Given the description of an element on the screen output the (x, y) to click on. 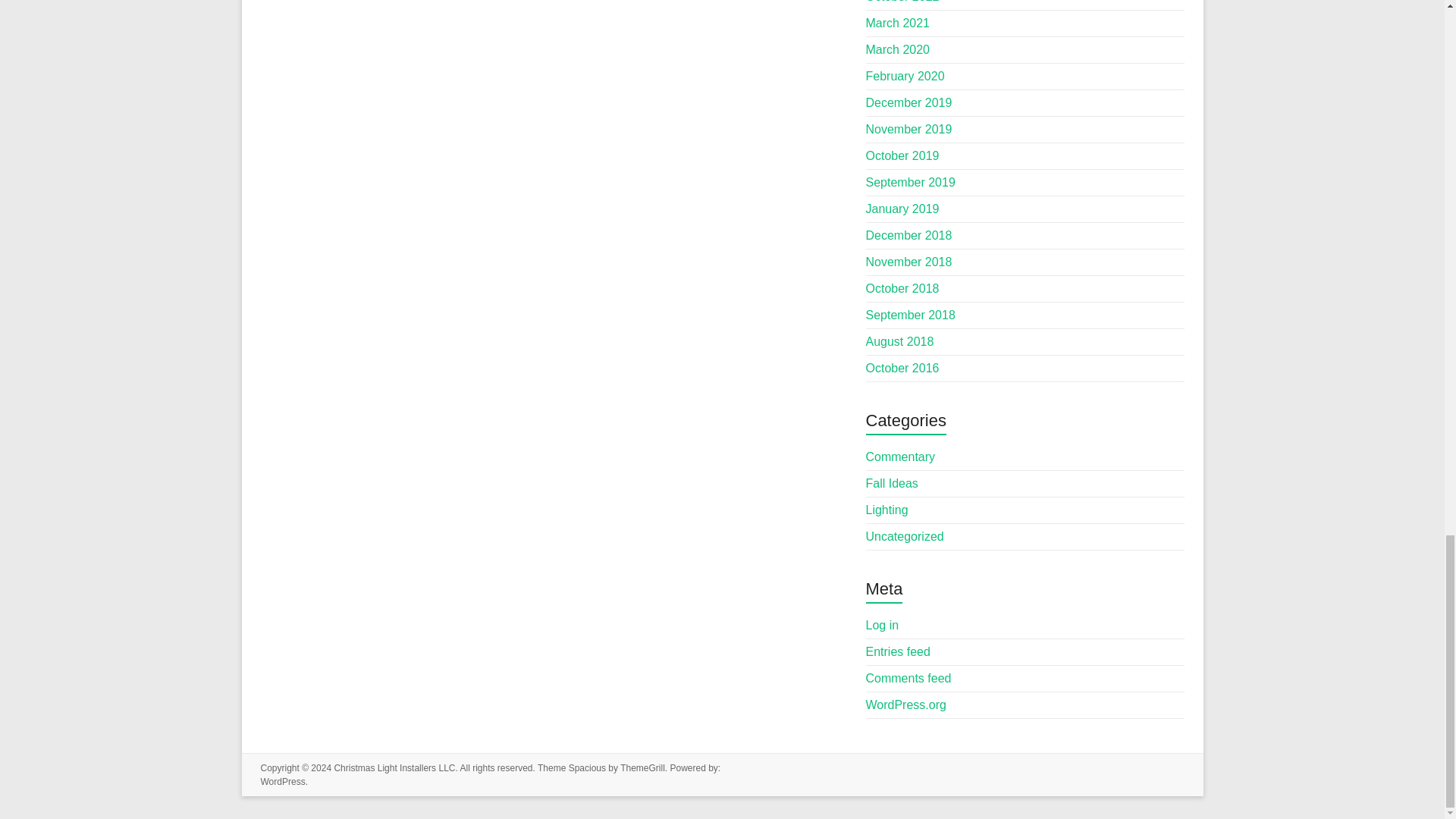
WordPress (282, 781)
Christmas Light Installers LLC (393, 767)
Spacious (587, 767)
